Given the description of an element on the screen output the (x, y) to click on. 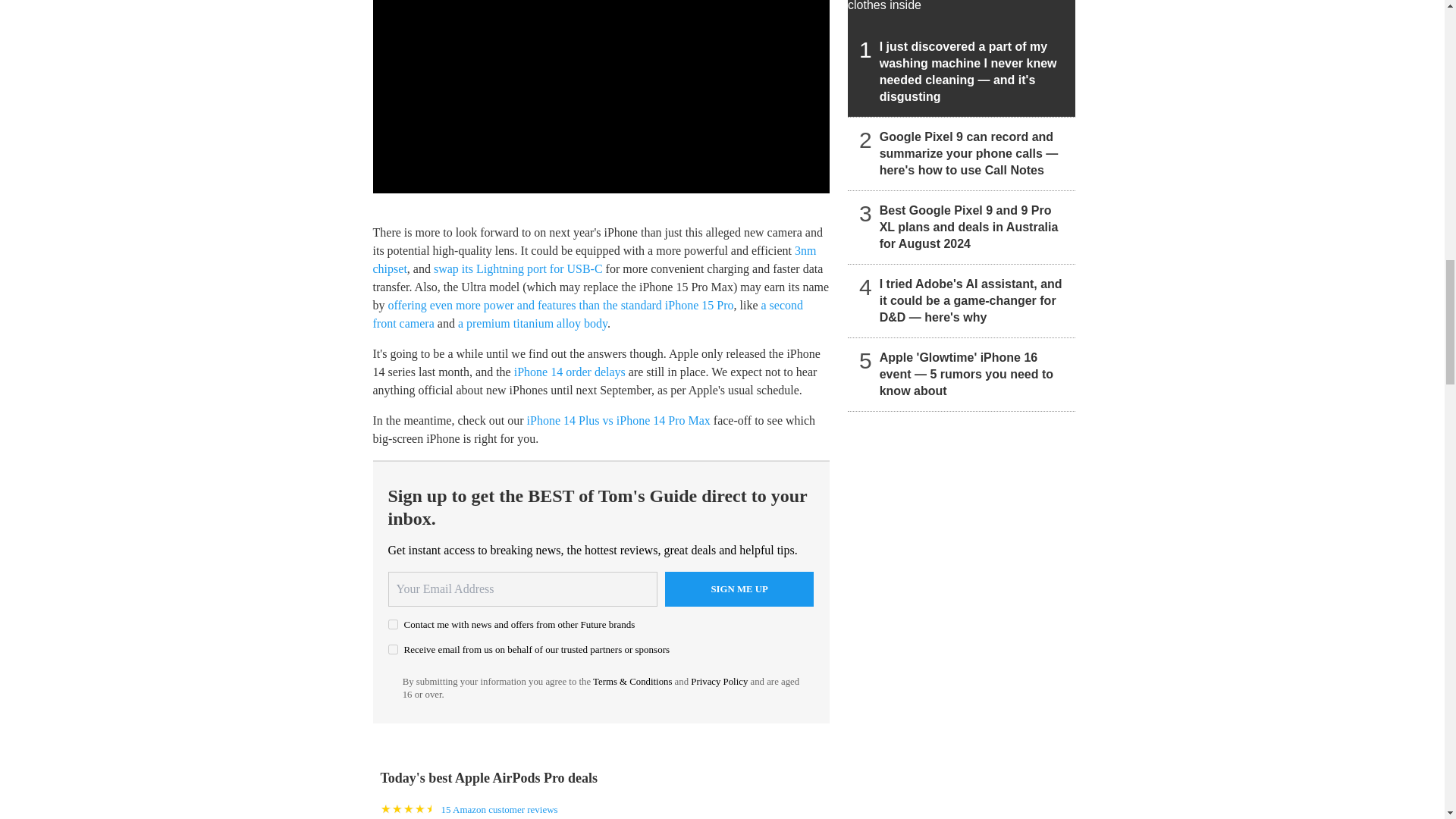
on (392, 624)
on (392, 649)
Sign me up (739, 588)
